Given the description of an element on the screen output the (x, y) to click on. 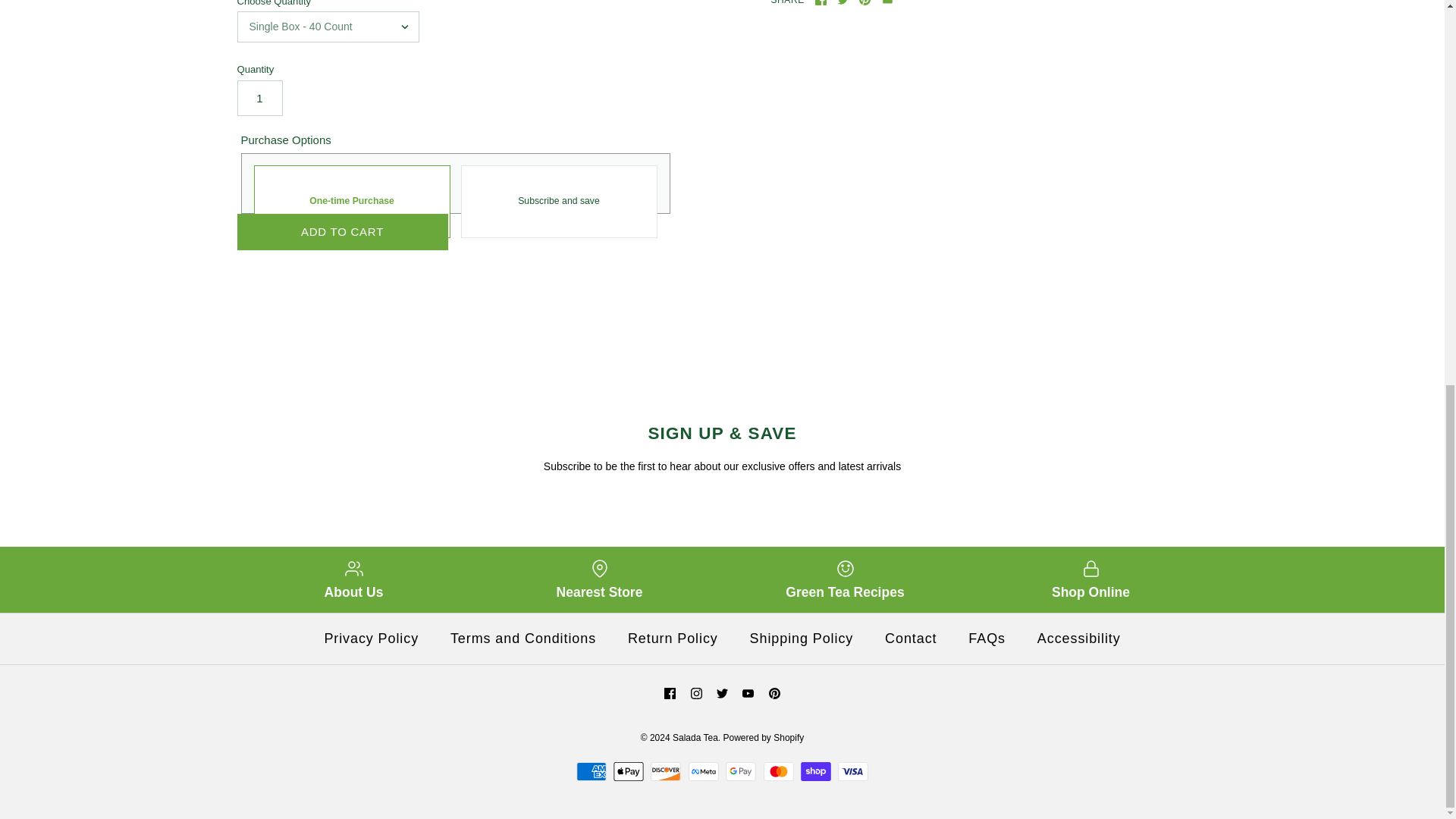
American Express (591, 771)
Pinterest (774, 693)
Facebook (821, 2)
Twitter (722, 693)
Share on Facebook (821, 2)
Share using email (887, 2)
Meta Pay (703, 771)
Pin the main image (864, 2)
Add to Cart (340, 231)
Instagram (695, 693)
